Given the description of an element on the screen output the (x, y) to click on. 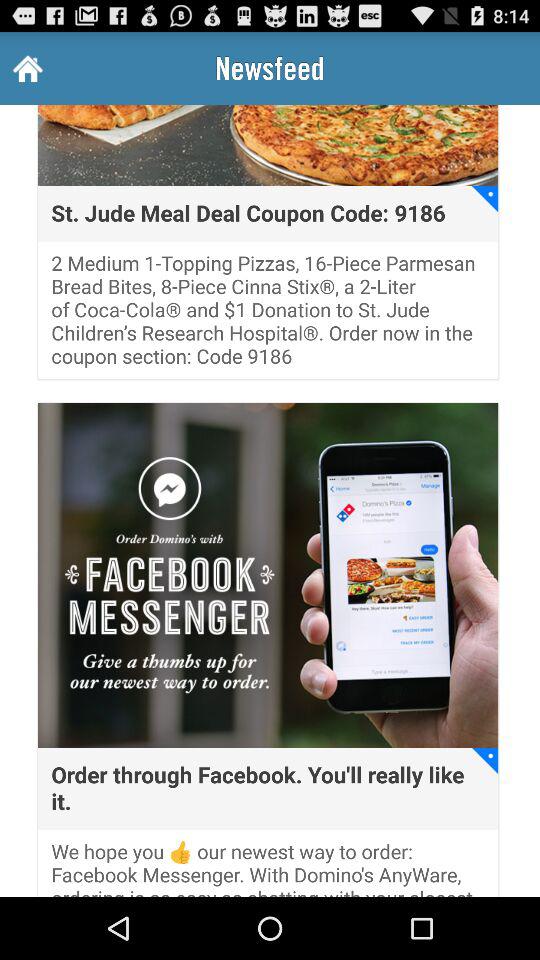
turn off the item at the top right corner (485, 198)
